Given the description of an element on the screen output the (x, y) to click on. 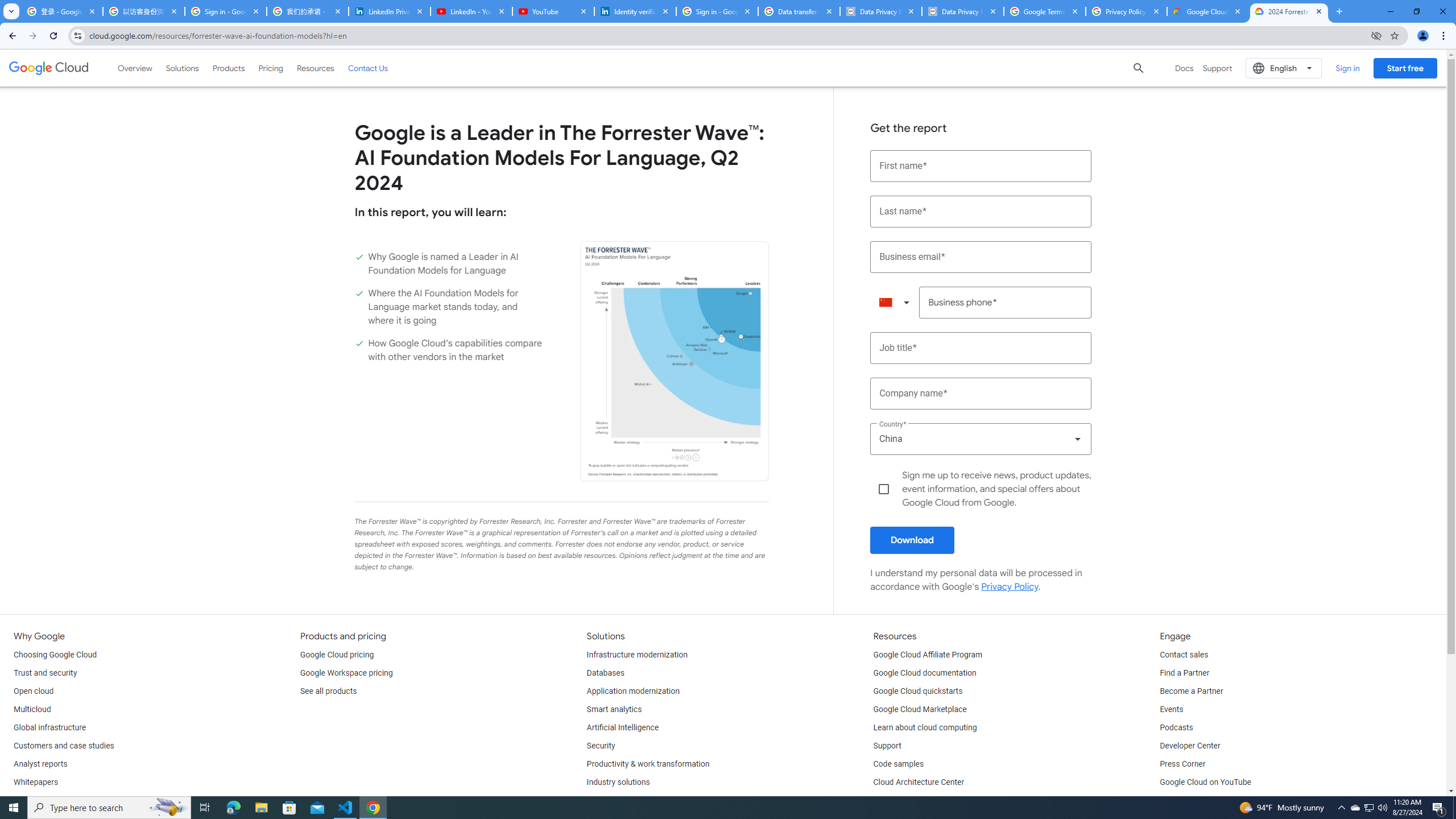
First name* (981, 165)
Multicloud (31, 710)
Resources (314, 67)
Docs (1183, 67)
Sign in - Google Accounts (716, 11)
Country China (981, 439)
Sign in - Google Accounts (225, 11)
Company name* (981, 393)
Developer Center (1189, 746)
Pricing (270, 67)
